Given the description of an element on the screen output the (x, y) to click on. 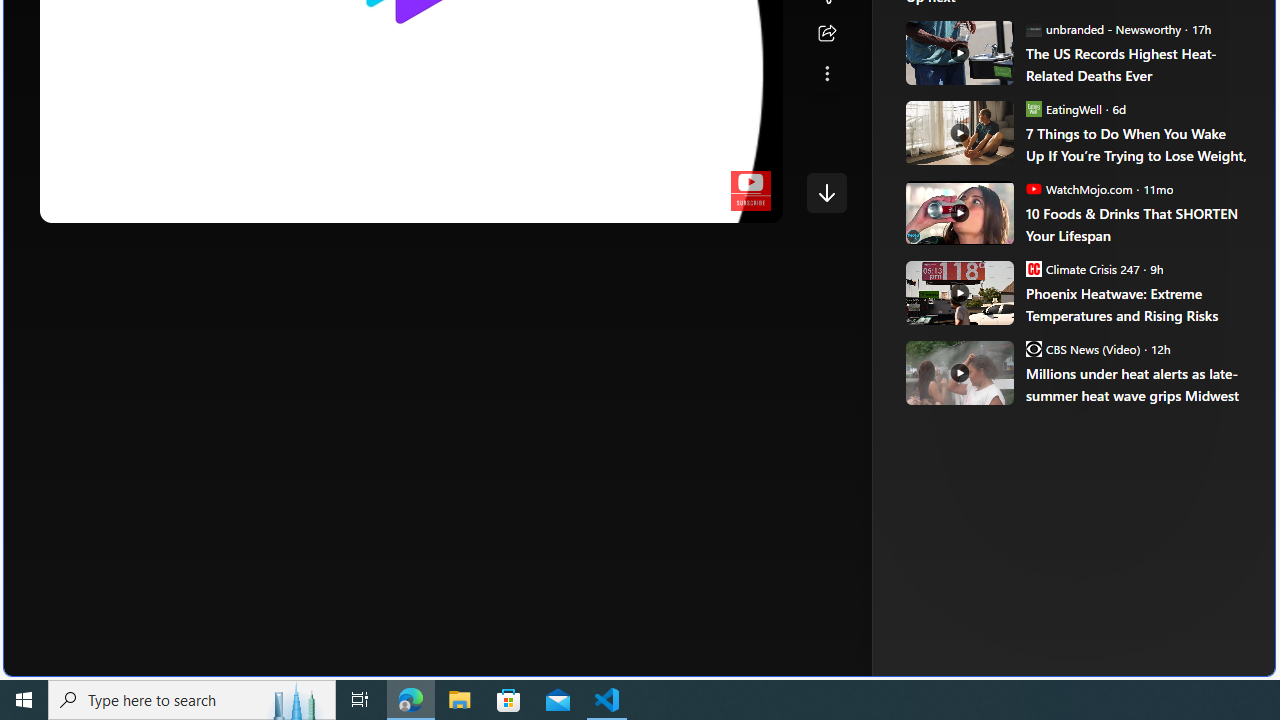
10 Foods & Drinks That SHORTEN Your Lifespan (958, 212)
CBS News (Video) (1033, 348)
The US Records Highest Heat-Related Deaths Ever (958, 52)
Feedback (1199, 659)
See more (826, 74)
CBS News (Video) CBS News (Video) (1082, 348)
intro (397, 202)
Channel watermark (750, 191)
Climate Crisis 247 (1033, 268)
Nordace (1003, 337)
Ad (963, 337)
ABC News (974, 12)
Pause (k) (75, 202)
